Given the description of an element on the screen output the (x, y) to click on. 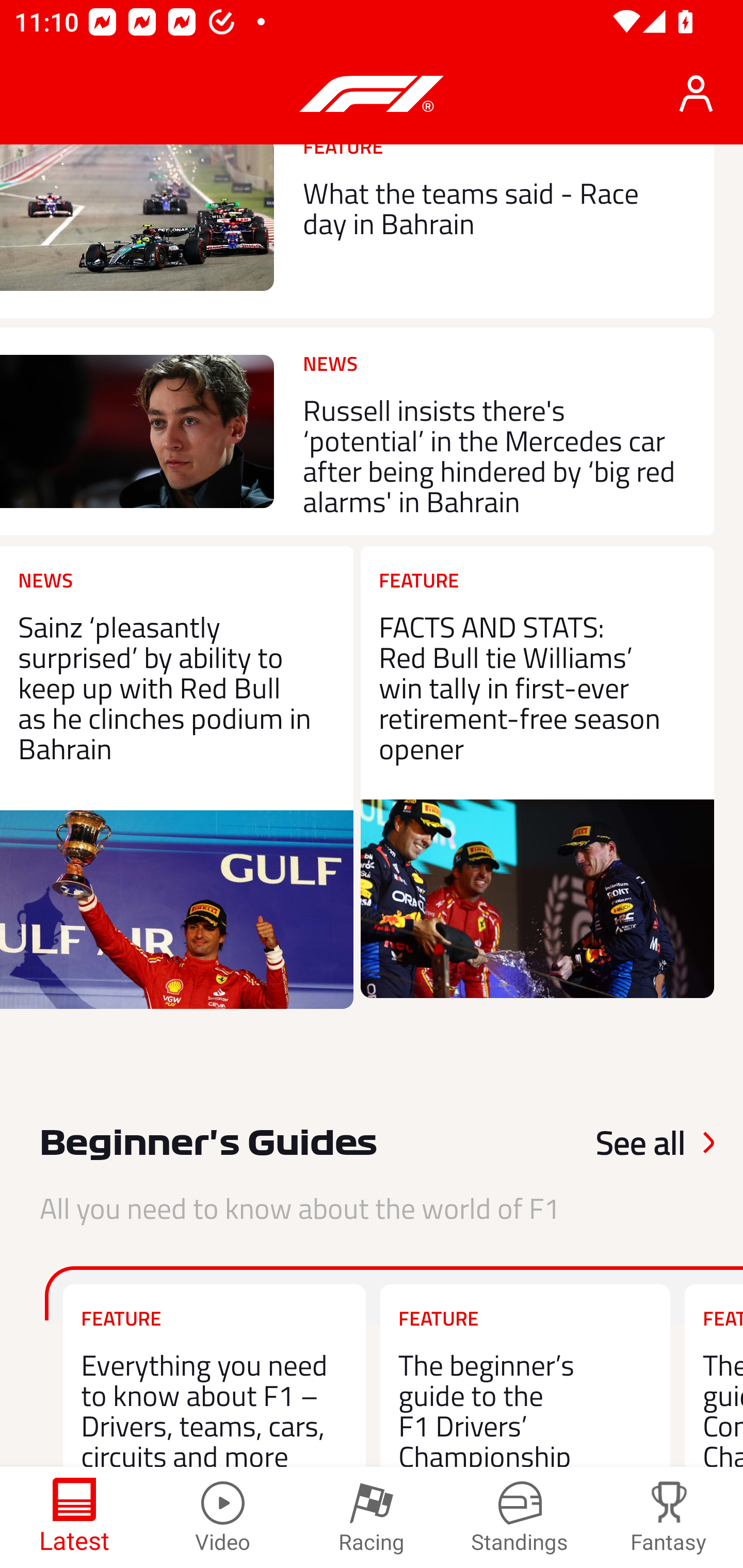
See all (617, 1142)
Video (222, 1517)
Racing (371, 1517)
Standings (519, 1517)
Fantasy (668, 1517)
